Given the description of an element on the screen output the (x, y) to click on. 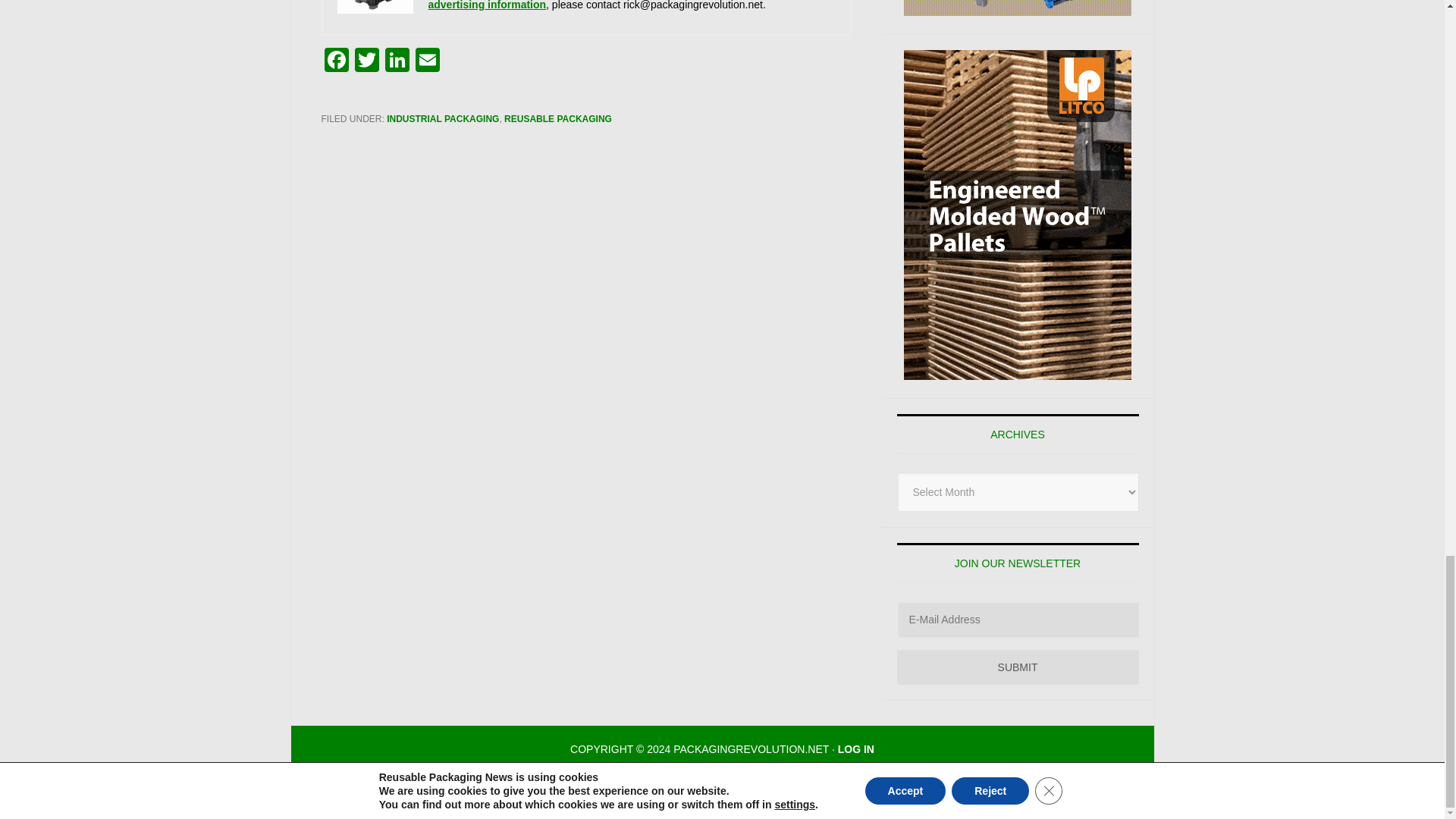
Twitter (366, 61)
LinkedIn (396, 61)
advertising information (487, 5)
REUSABLE PACKAGING (557, 118)
Email (427, 61)
Facebook (336, 61)
Facebook (336, 61)
LinkedIn (396, 61)
Email (427, 61)
INDUSTRIAL PACKAGING (443, 118)
